Given the description of an element on the screen output the (x, y) to click on. 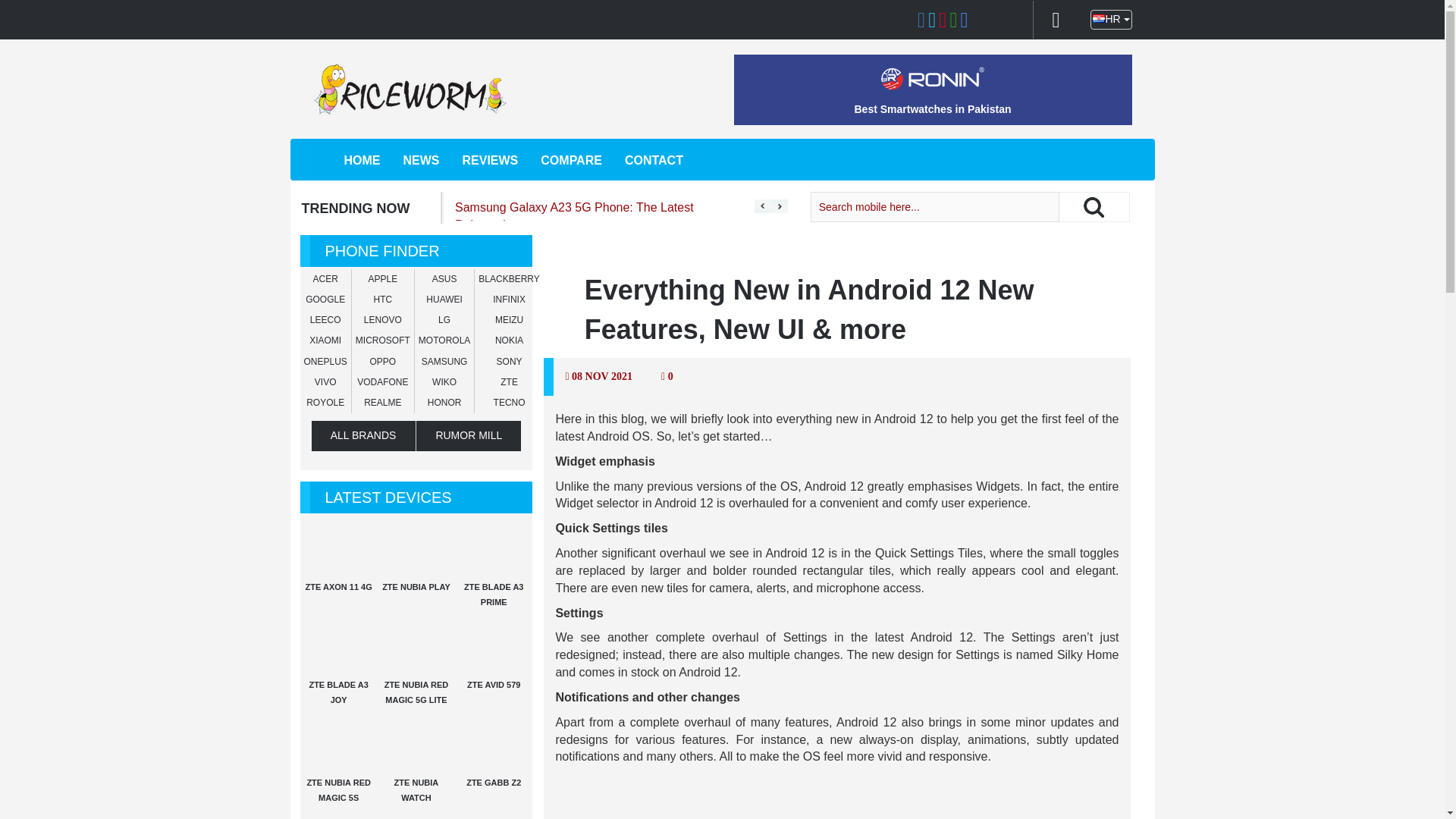
MOTOROLA (444, 339)
MEIZU (508, 319)
BLACKBERRY (508, 278)
GOOGLE (325, 299)
CONTACT (653, 160)
HTC (383, 299)
MICROSOFT (382, 339)
XIAOMI (324, 339)
HUAWEI (444, 299)
COMPARE (571, 160)
HR (1110, 19)
NEWS (421, 160)
APPLE (382, 278)
LENOVO (382, 319)
ACER (325, 278)
